Given the description of an element on the screen output the (x, y) to click on. 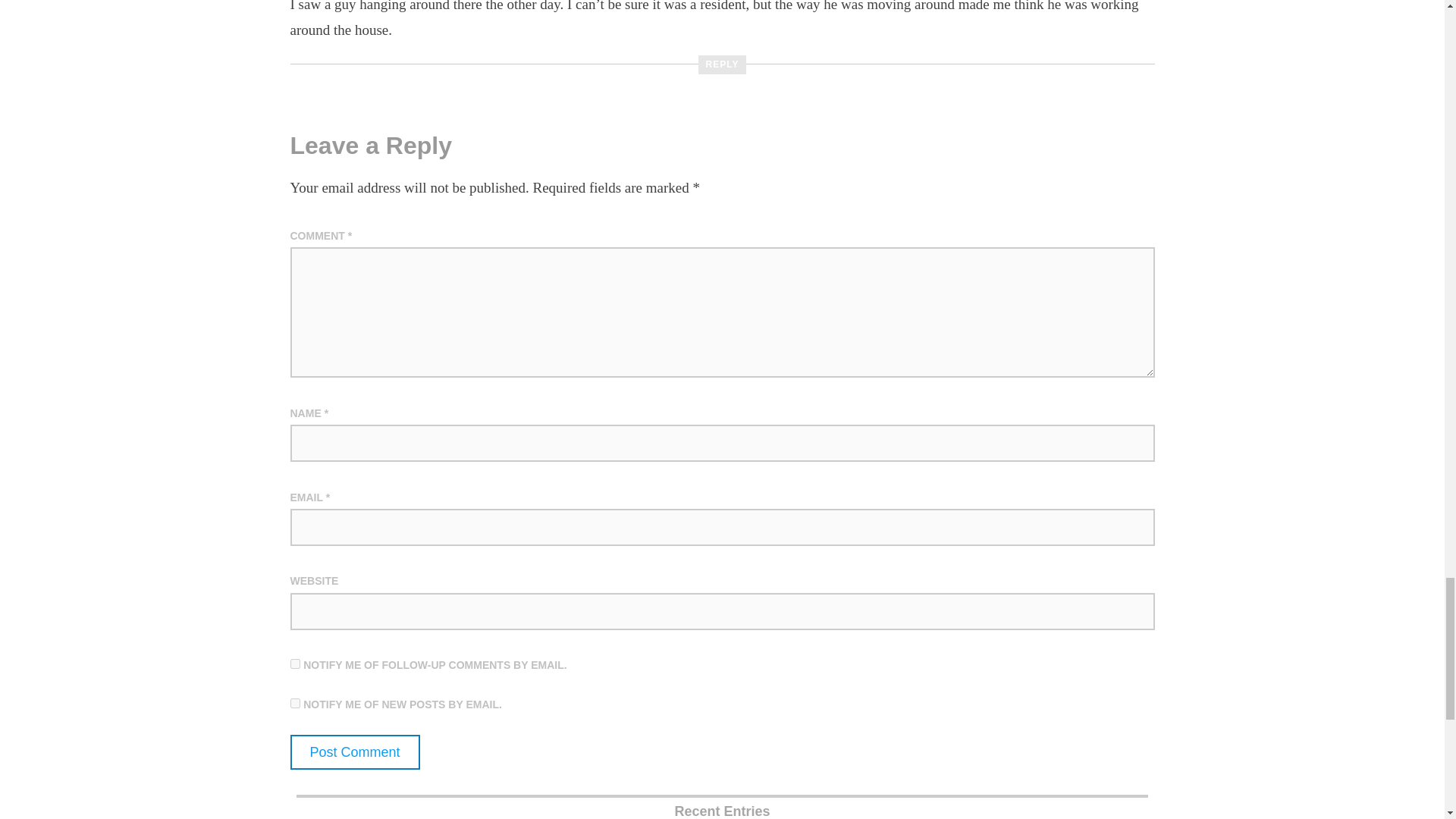
REPLY (722, 64)
subscribe (294, 703)
subscribe (294, 664)
Post Comment (354, 751)
Post Comment (354, 751)
